Given the description of an element on the screen output the (x, y) to click on. 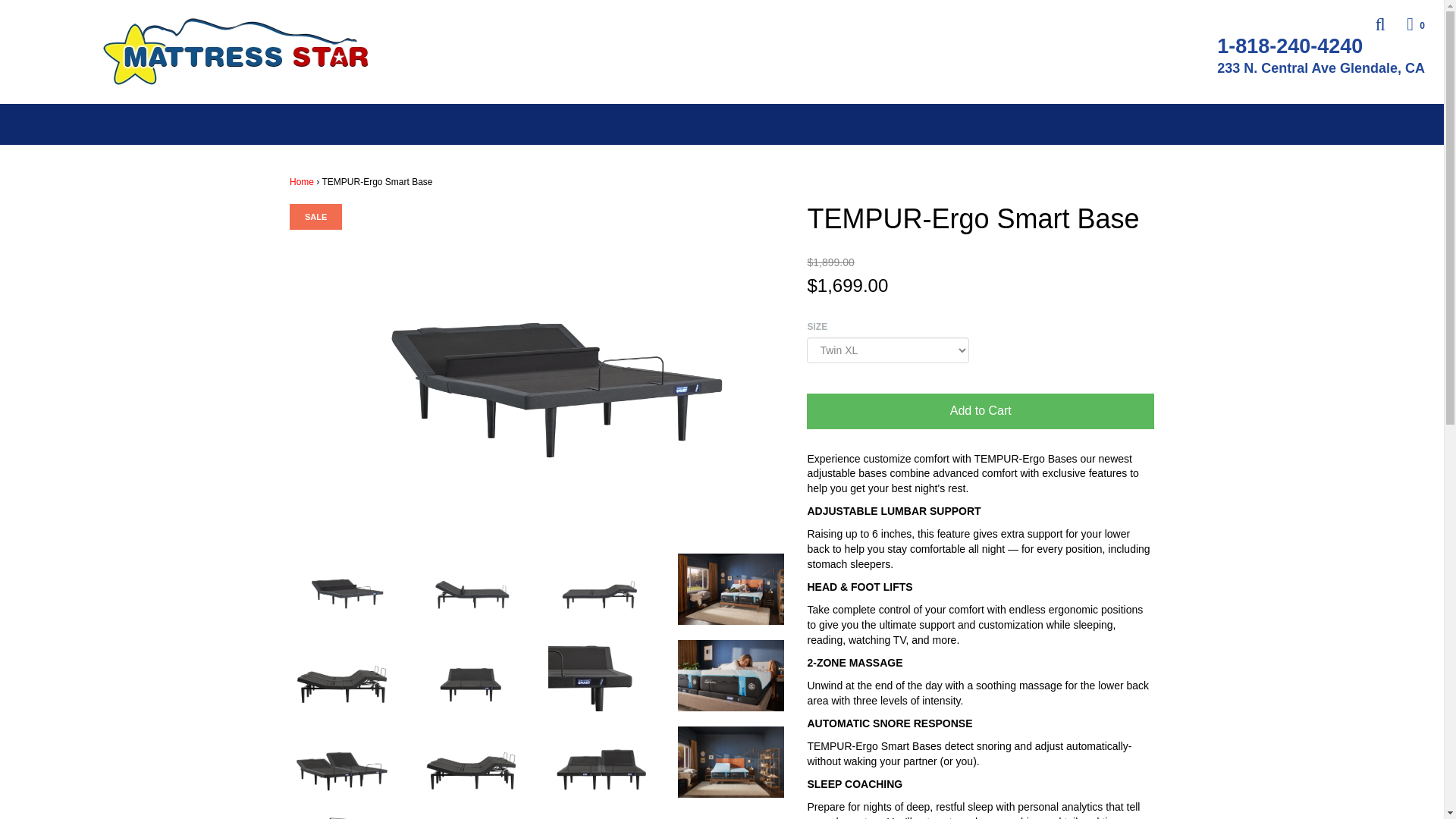
TEMPUR-Ergo Smart Base (472, 588)
TEMPUR-Ergo Smart Base (342, 674)
TEMPUR-Ergo Smart Base (472, 760)
1-818-240-4240 (1301, 46)
TEMPUR-Ergo Smart Base (731, 674)
TEMPUR-Ergo Smart Base (601, 760)
TEMPUR-Ergo Smart Base (731, 760)
TEMPUR-Ergo Smart Base (731, 588)
Your Cart (1406, 24)
Search (1369, 24)
